Given the description of an element on the screen output the (x, y) to click on. 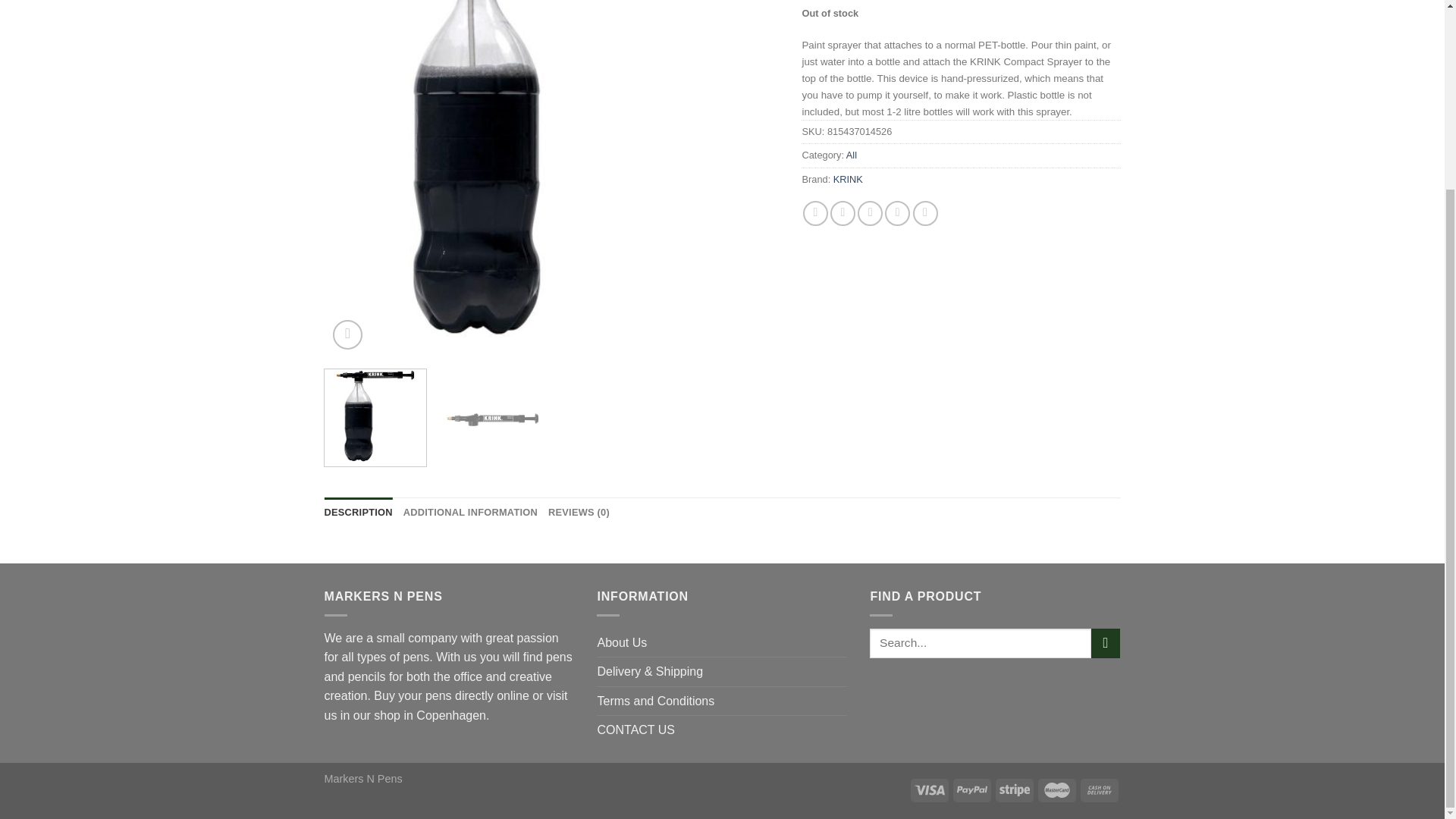
Pin on Pinterest (897, 213)
Share on Facebook (815, 213)
Zoom (347, 334)
Email to a Friend (869, 213)
Share on LinkedIn (924, 213)
Share on Twitter (842, 213)
